Given the description of an element on the screen output the (x, y) to click on. 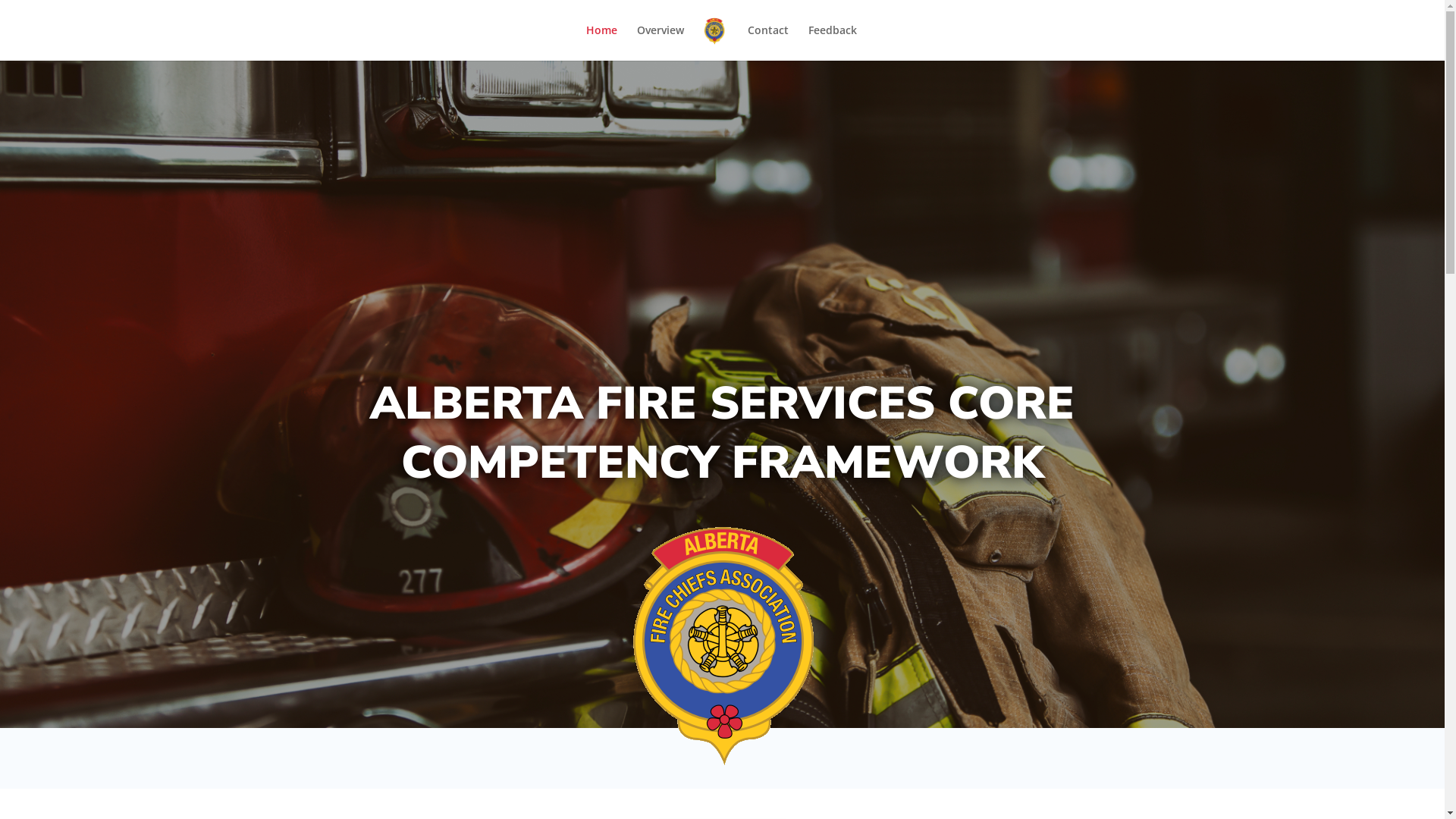
Feedback Element type: text (832, 42)
Contact Element type: text (767, 42)
Overview Element type: text (660, 42)
Home Element type: text (601, 42)
